Given the description of an element on the screen output the (x, y) to click on. 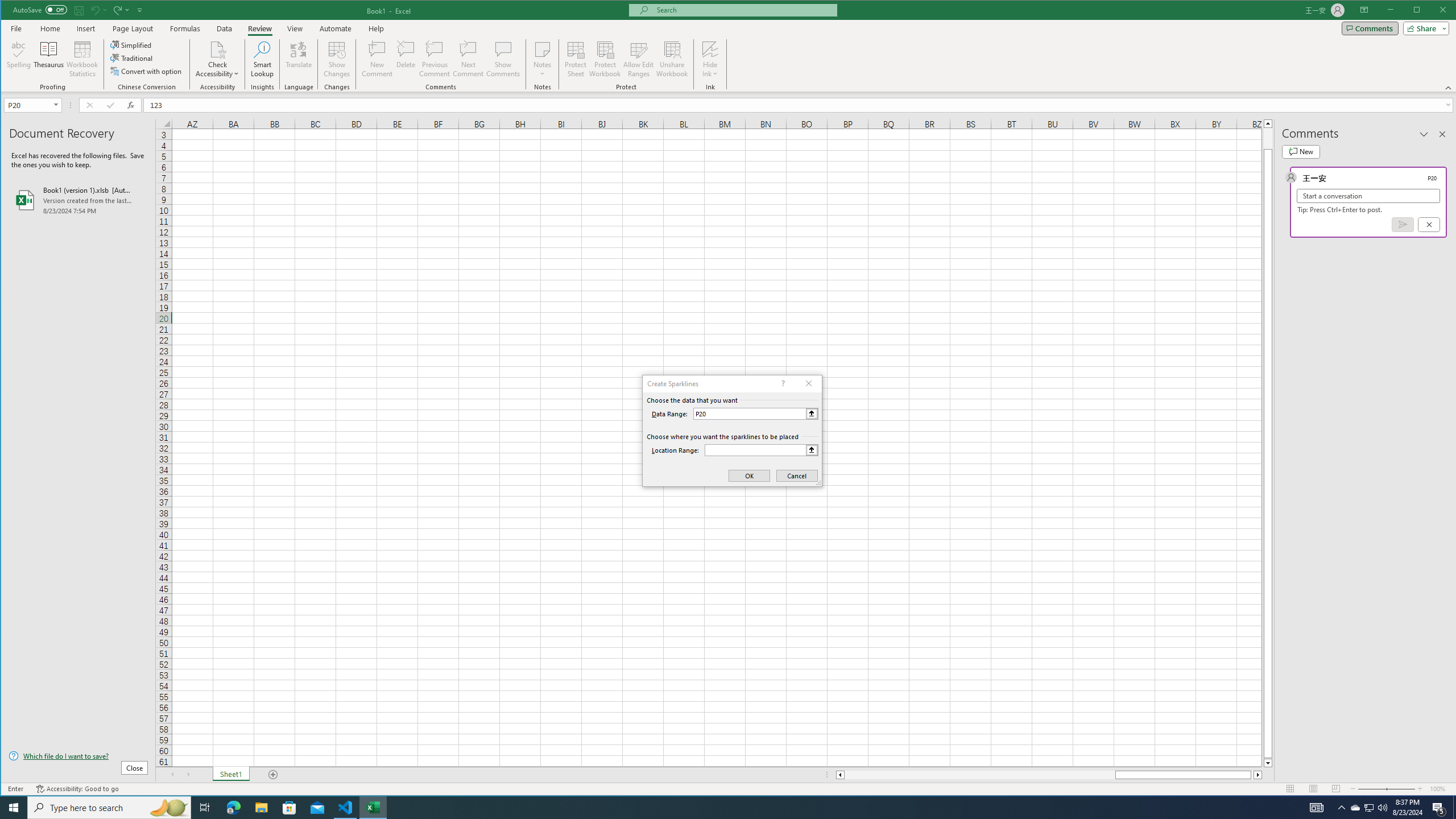
Show Comments (502, 59)
Microsoft search (742, 10)
Zoom Out (1372, 788)
New comment (1300, 151)
Spelling... (18, 59)
Scroll Left (172, 774)
Cancel (1428, 224)
Comments (1369, 28)
Workbook Statistics (82, 59)
Share (1423, 27)
Thesaurus... (48, 59)
Add Sheet (272, 774)
Scroll Right (188, 774)
